Given the description of an element on the screen output the (x, y) to click on. 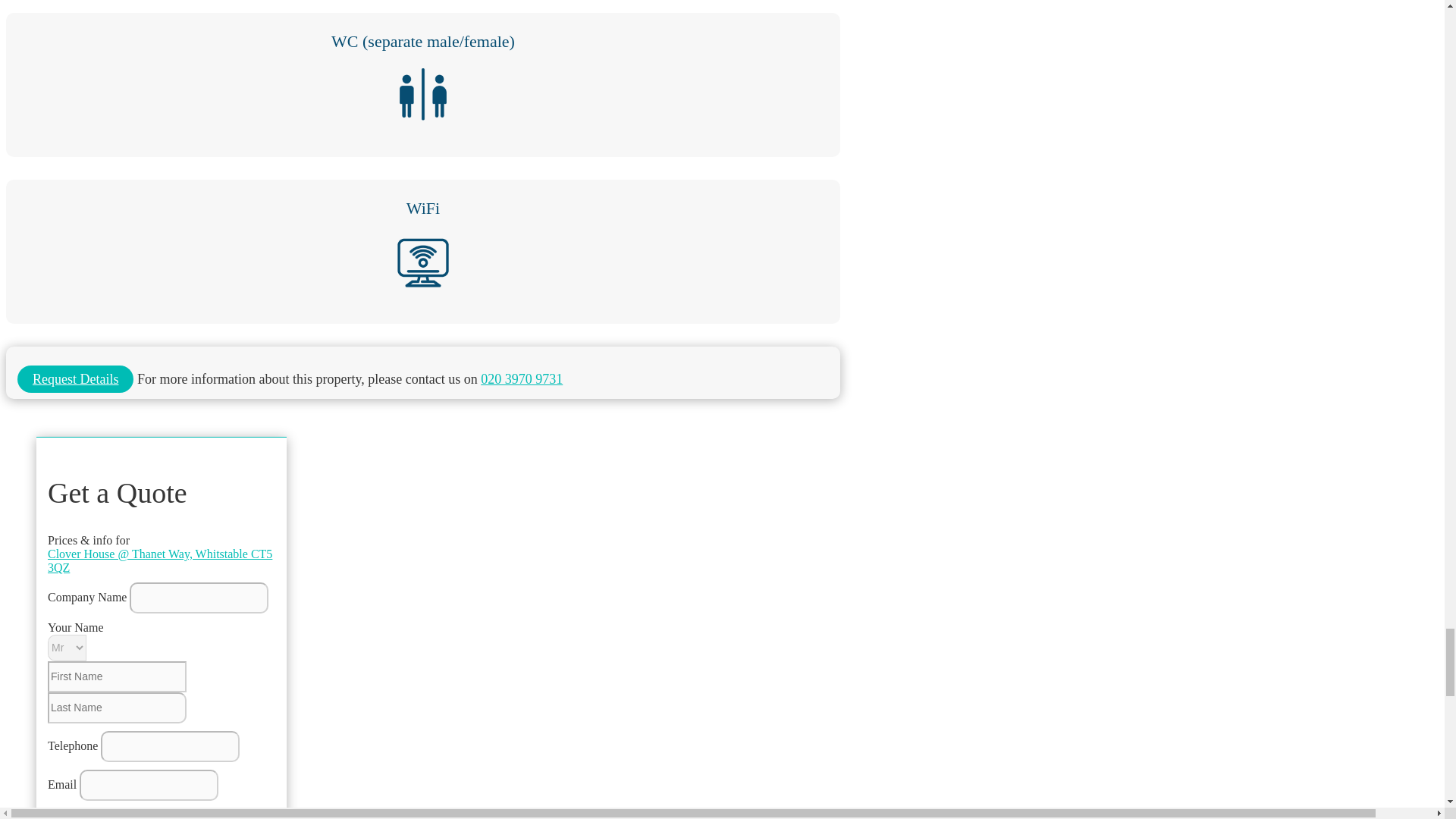
020 3970 9731 (521, 378)
Request Details (75, 379)
